Given the description of an element on the screen output the (x, y) to click on. 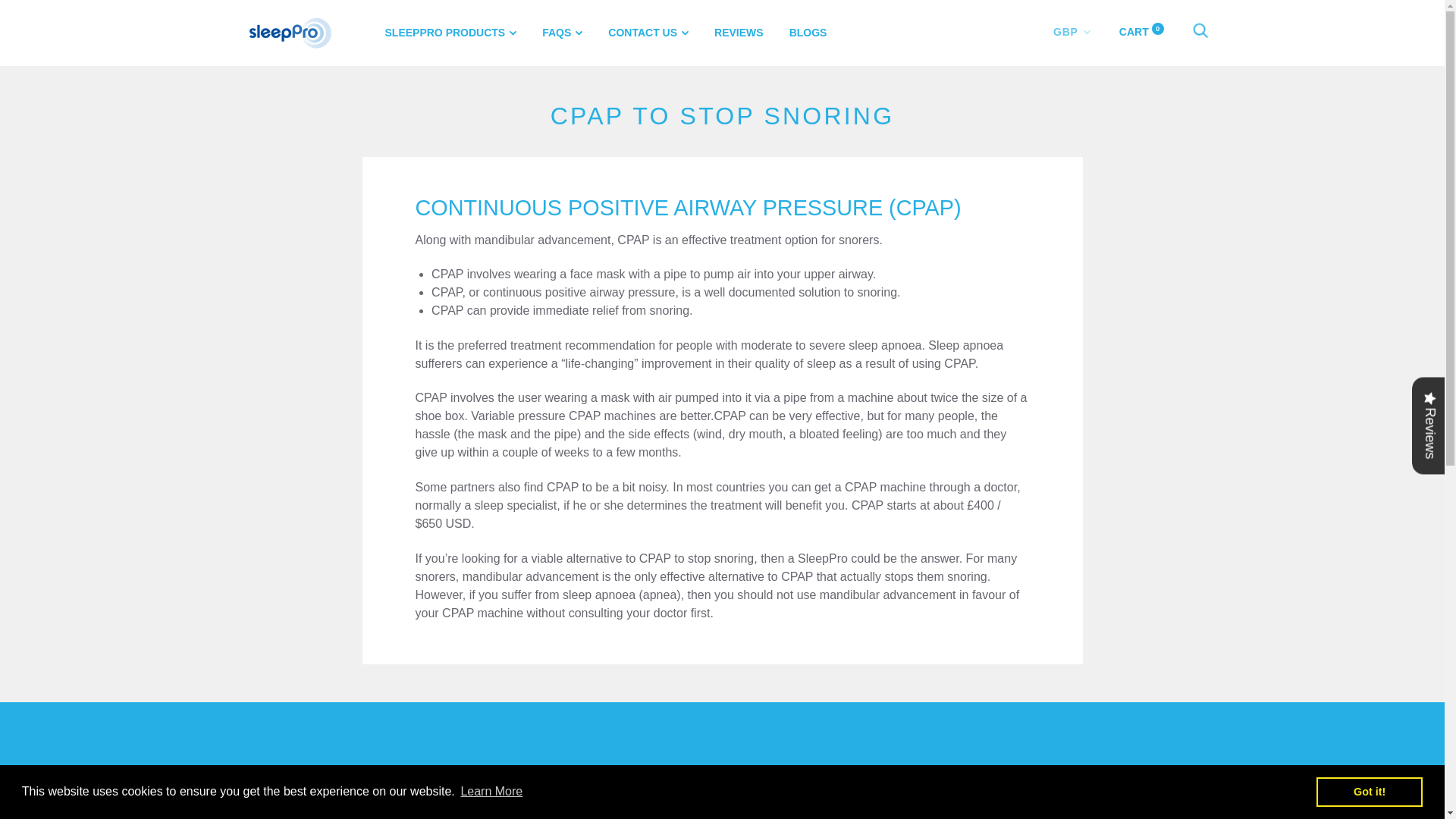
REVIEWS (738, 32)
BLOGS (808, 32)
Got it! (1369, 791)
SLEEPPRO PRODUCTS (450, 32)
FAQS (561, 32)
CONTACT US (648, 32)
Learn More (491, 791)
Subscribe (1070, 798)
